Given the description of an element on the screen output the (x, y) to click on. 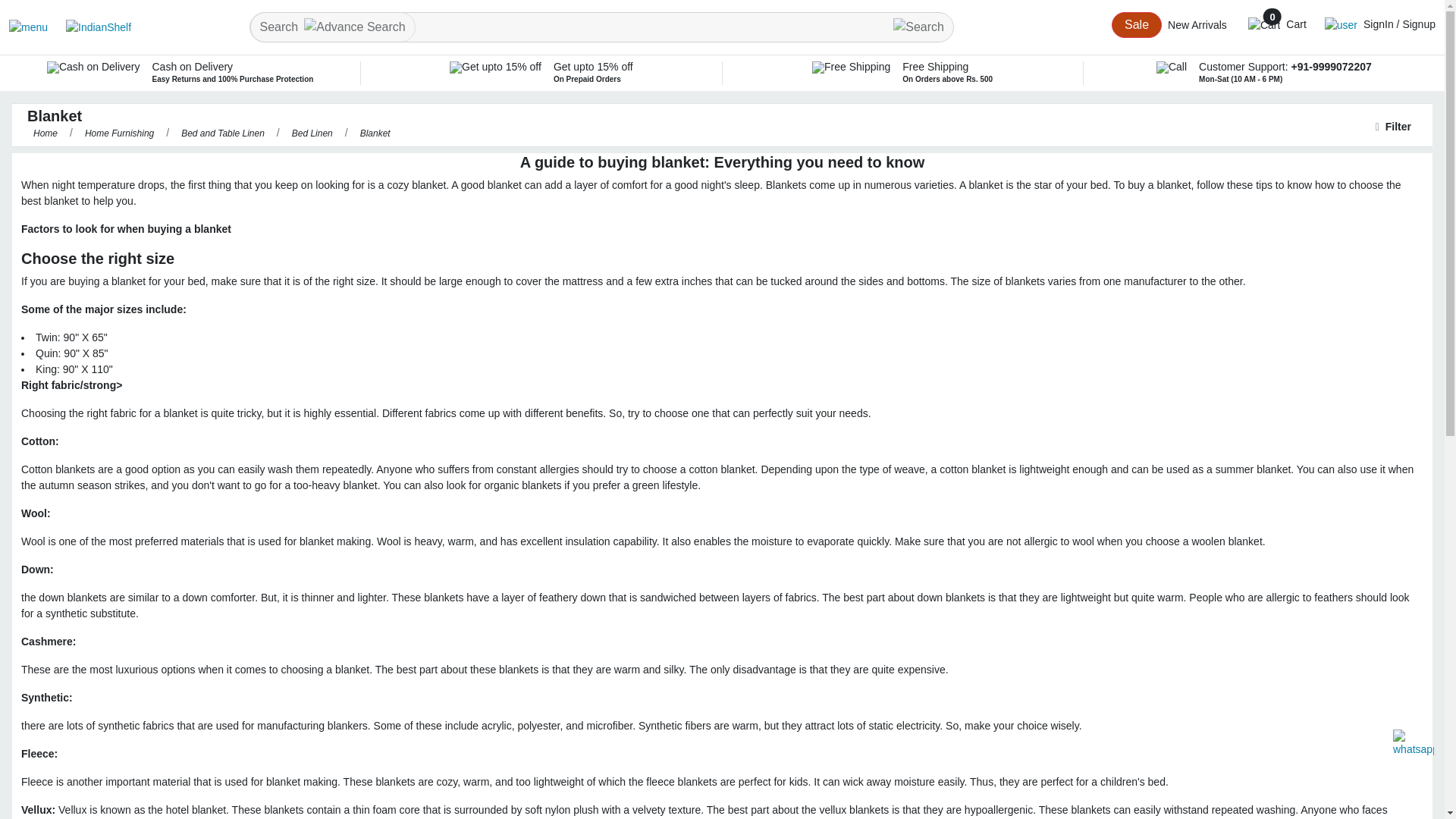
New Arrivals (1197, 24)
IndianShelf (89, 27)
Cart (1276, 24)
